Given the description of an element on the screen output the (x, y) to click on. 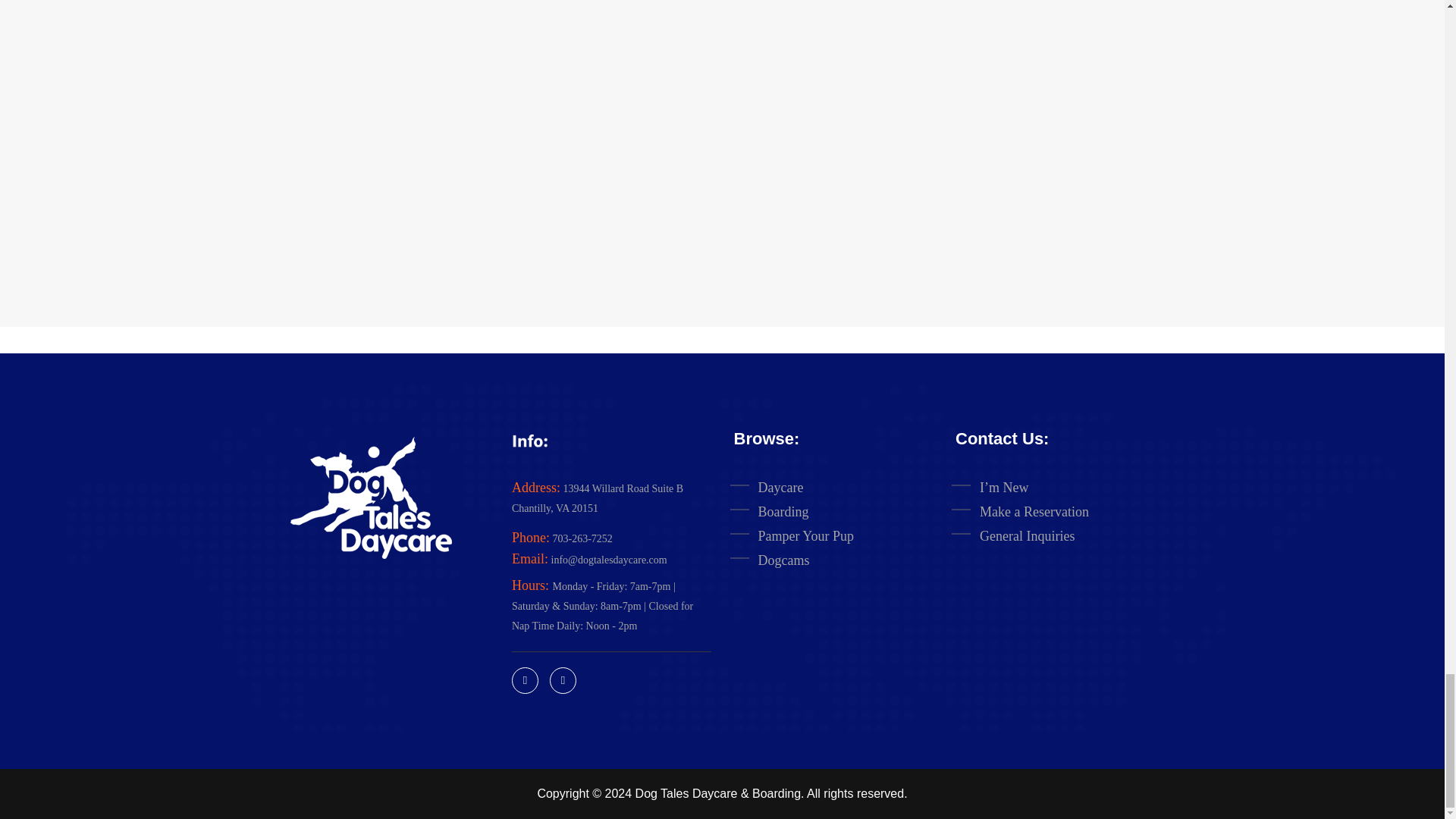
Boarding (849, 509)
Pamper Your Pup (849, 534)
General Inquiries (1070, 534)
Daycare (849, 485)
Dogcams (849, 558)
Make a Reservation (1070, 509)
